Given the description of an element on the screen output the (x, y) to click on. 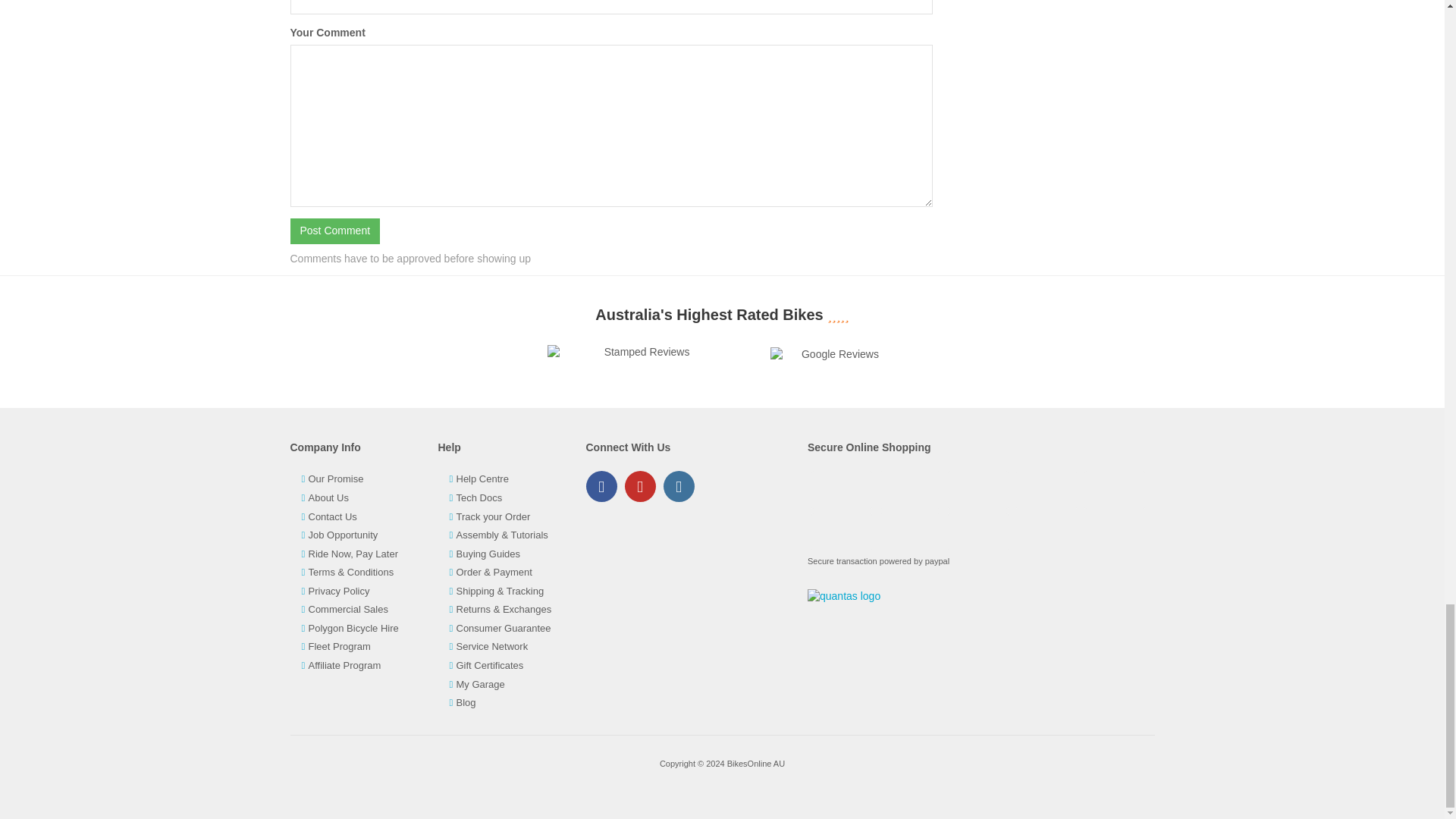
Visit our Instagram profile (678, 486)
Visit our Youtube channe (640, 486)
Visit our Facebook page (600, 486)
